Given the description of an element on the screen output the (x, y) to click on. 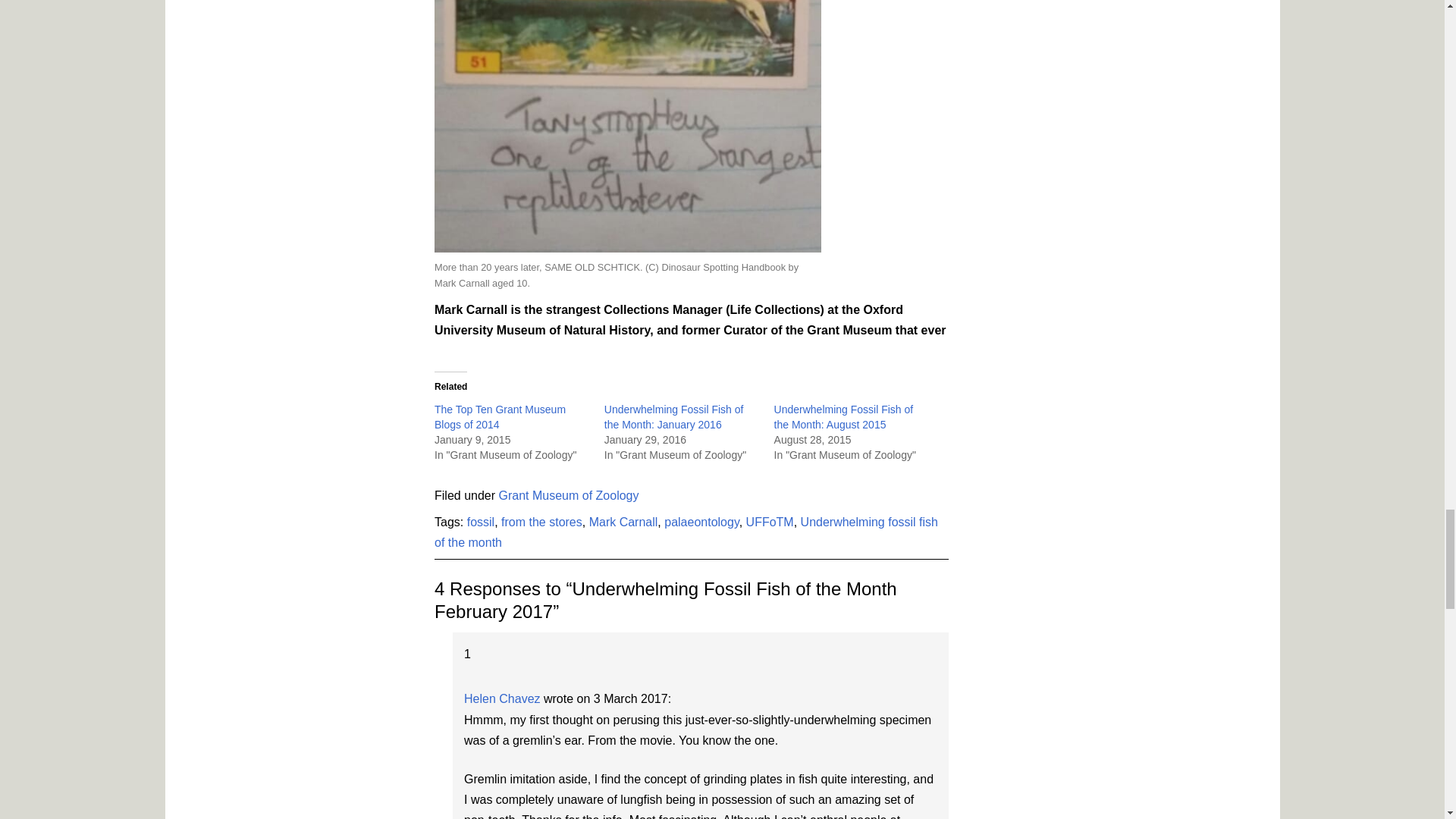
Mark Carnall (623, 521)
Underwhelming Fossil Fish of the Month: January 2016 (674, 416)
from the stores (541, 521)
Underwhelming Fossil Fish of the Month: January 2016 (674, 416)
The Top Ten Grant Museum Blogs of 2014 (499, 416)
Grant Museum of Zoology (569, 495)
fossil (481, 521)
Underwhelming Fossil Fish of the Month: August 2015 (844, 416)
Underwhelming Fossil Fish of the Month: August 2015 (844, 416)
The Top Ten Grant Museum Blogs of 2014 (499, 416)
